Given the description of an element on the screen output the (x, y) to click on. 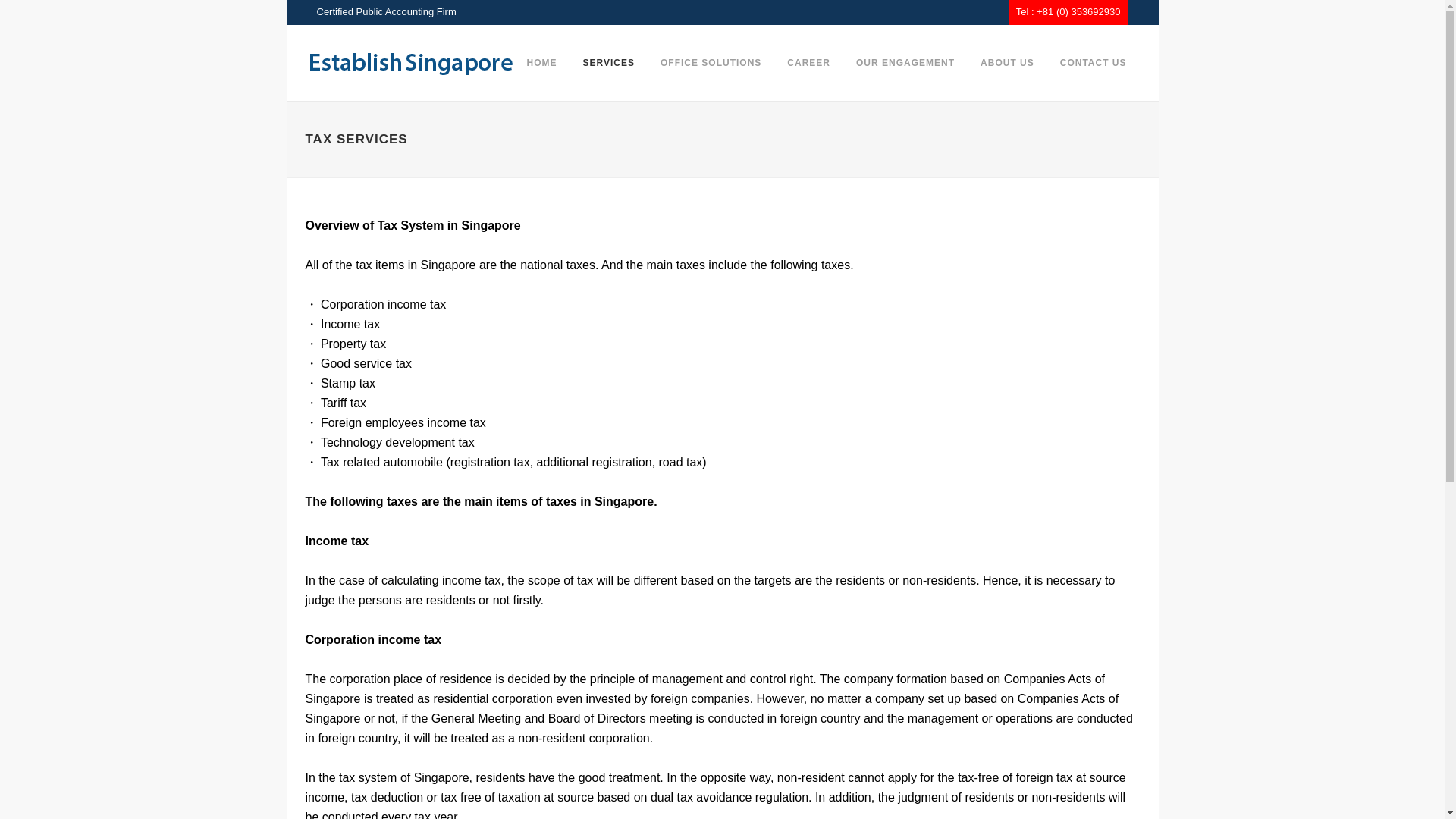
ABOUT US (1007, 62)
OUR ENGAGEMENT (905, 62)
CONTACT US (1093, 62)
SERVICES (608, 62)
CAREER (808, 62)
OFFICE SOLUTIONS (710, 62)
